Given the description of an element on the screen output the (x, y) to click on. 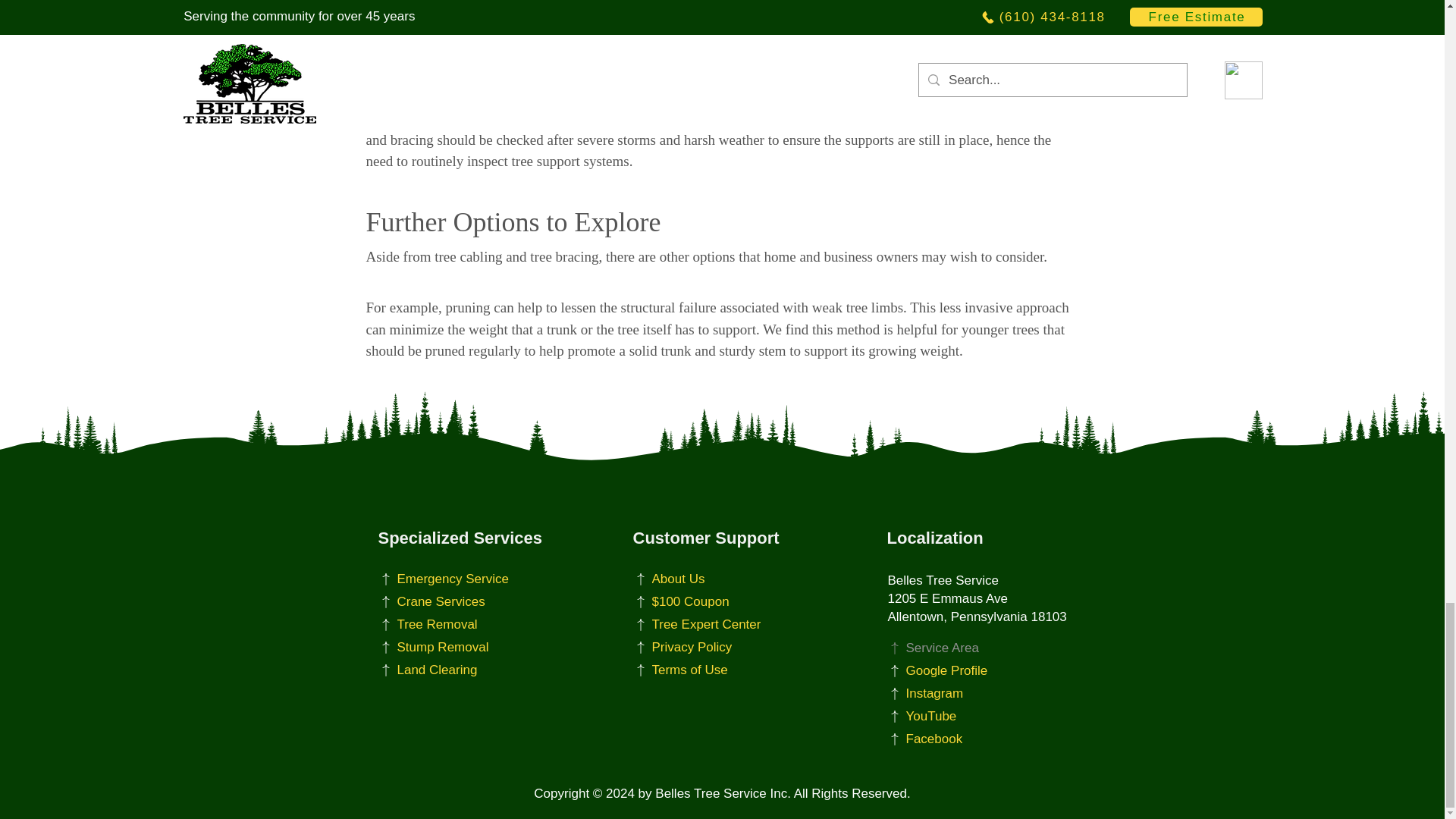
Stump Removal (453, 647)
Terms of Use (707, 670)
Privacy Policy (707, 647)
About Us (707, 579)
Service Area (962, 648)
Instagram (962, 693)
Land Clearing (453, 670)
YouTube (962, 716)
Emergency Service (453, 579)
Tree Expert Center (707, 624)
